Given the description of an element on the screen output the (x, y) to click on. 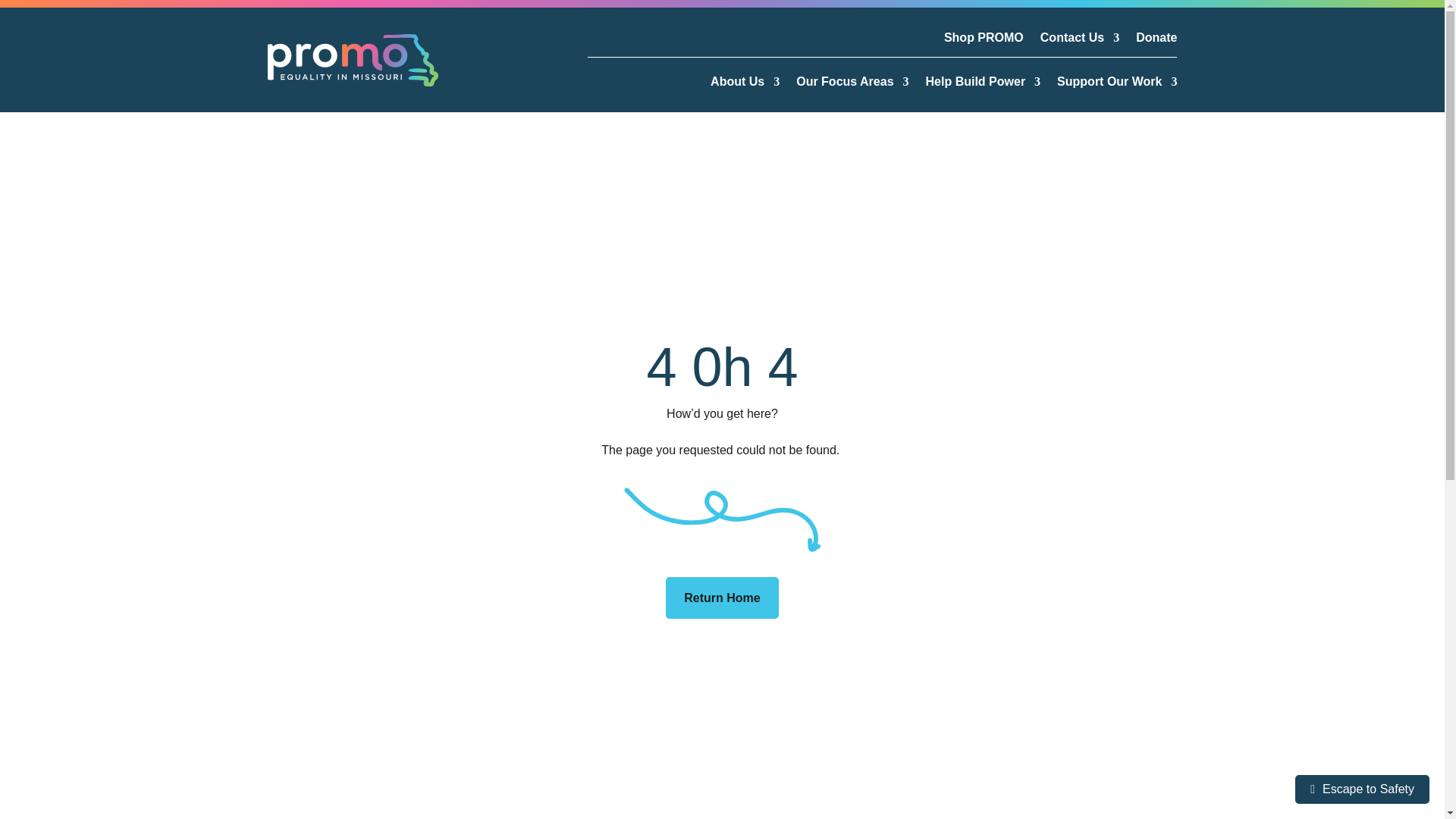
Contact Us (1080, 40)
blue-arrow (722, 519)
About Us (744, 84)
Escape to Safety (1362, 788)
Help Build Power (983, 84)
Our Focus Areas (852, 84)
Donate (1155, 40)
Shop PROMO (983, 40)
Support Our Work (1116, 84)
